Given the description of an element on the screen output the (x, y) to click on. 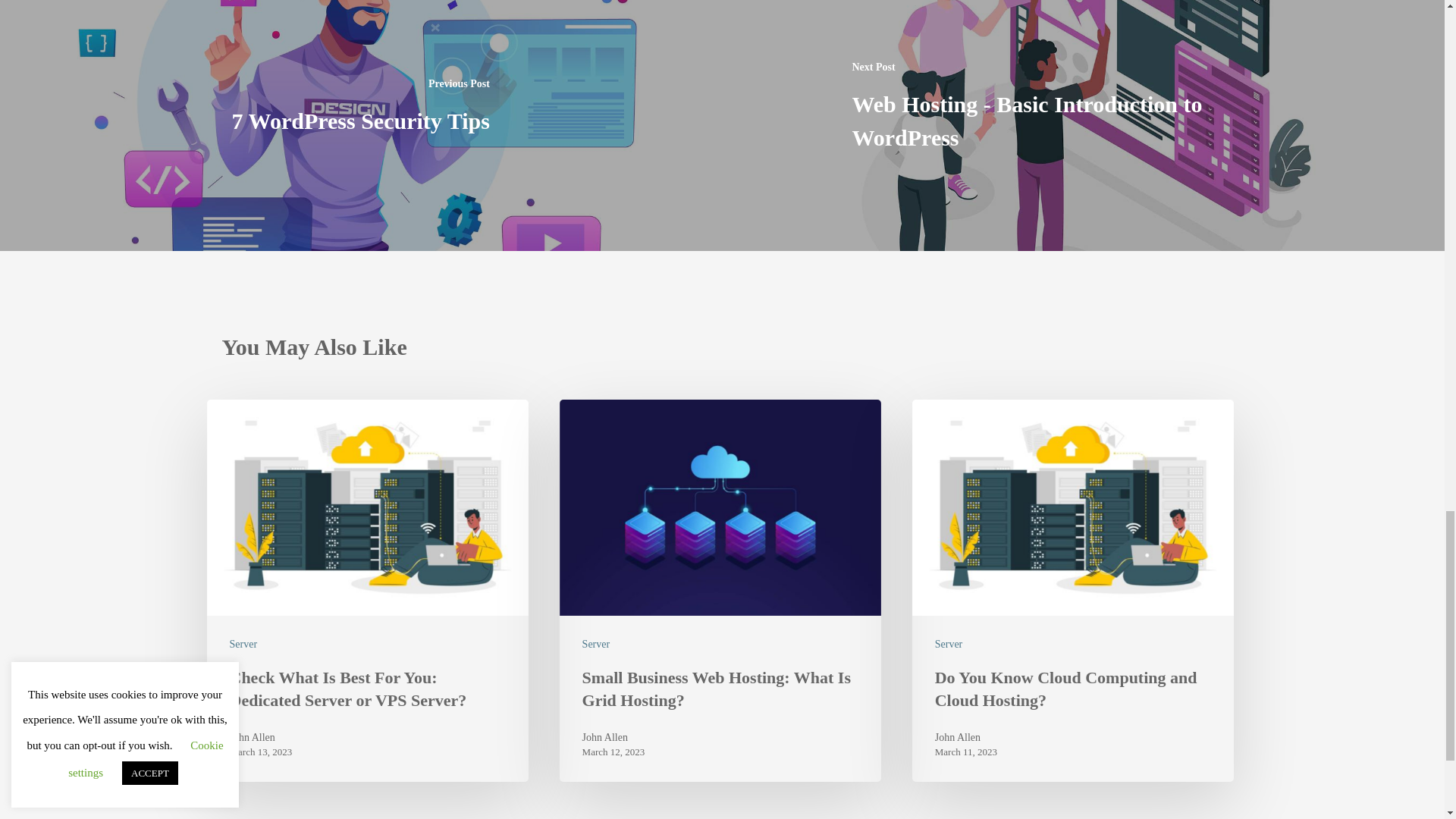
Server (948, 644)
Server (242, 644)
John Allen (965, 737)
Server (596, 644)
John Allen (260, 737)
John Allen (613, 737)
